Given the description of an element on the screen output the (x, y) to click on. 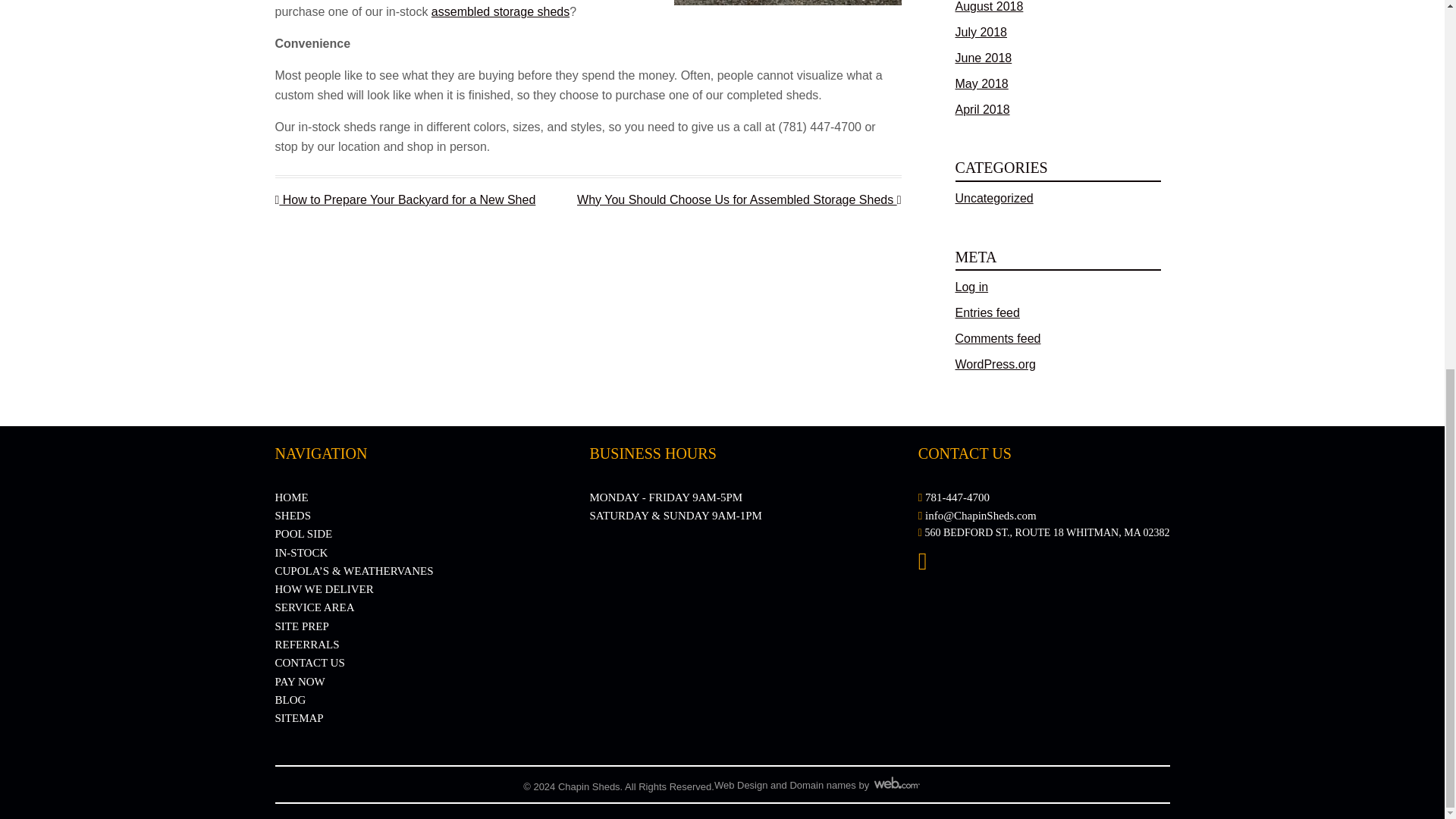
How to Prepare Your Backyard for a New Shed (405, 199)
assembled storage sheds (499, 11)
Why You Should Choose Us for Assembled Storage Sheds (738, 199)
